Given the description of an element on the screen output the (x, y) to click on. 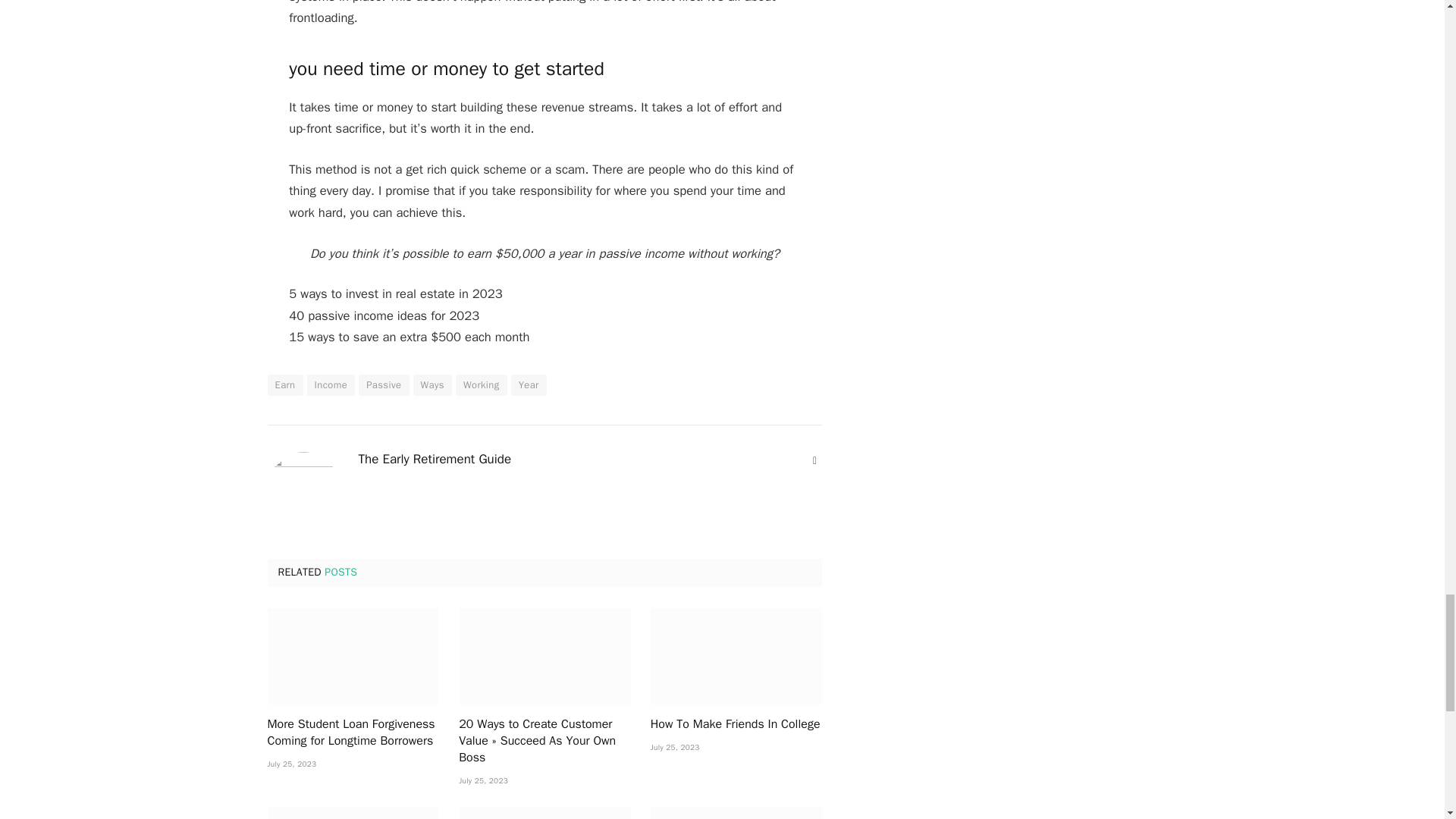
Posts by The Early Retirement Guide (434, 459)
Income (331, 384)
Passive (383, 384)
Earn (284, 384)
More Student Loan Forgiveness Coming for Longtime Borrowers (352, 656)
Website (814, 460)
Ways (432, 384)
